Given the description of an element on the screen output the (x, y) to click on. 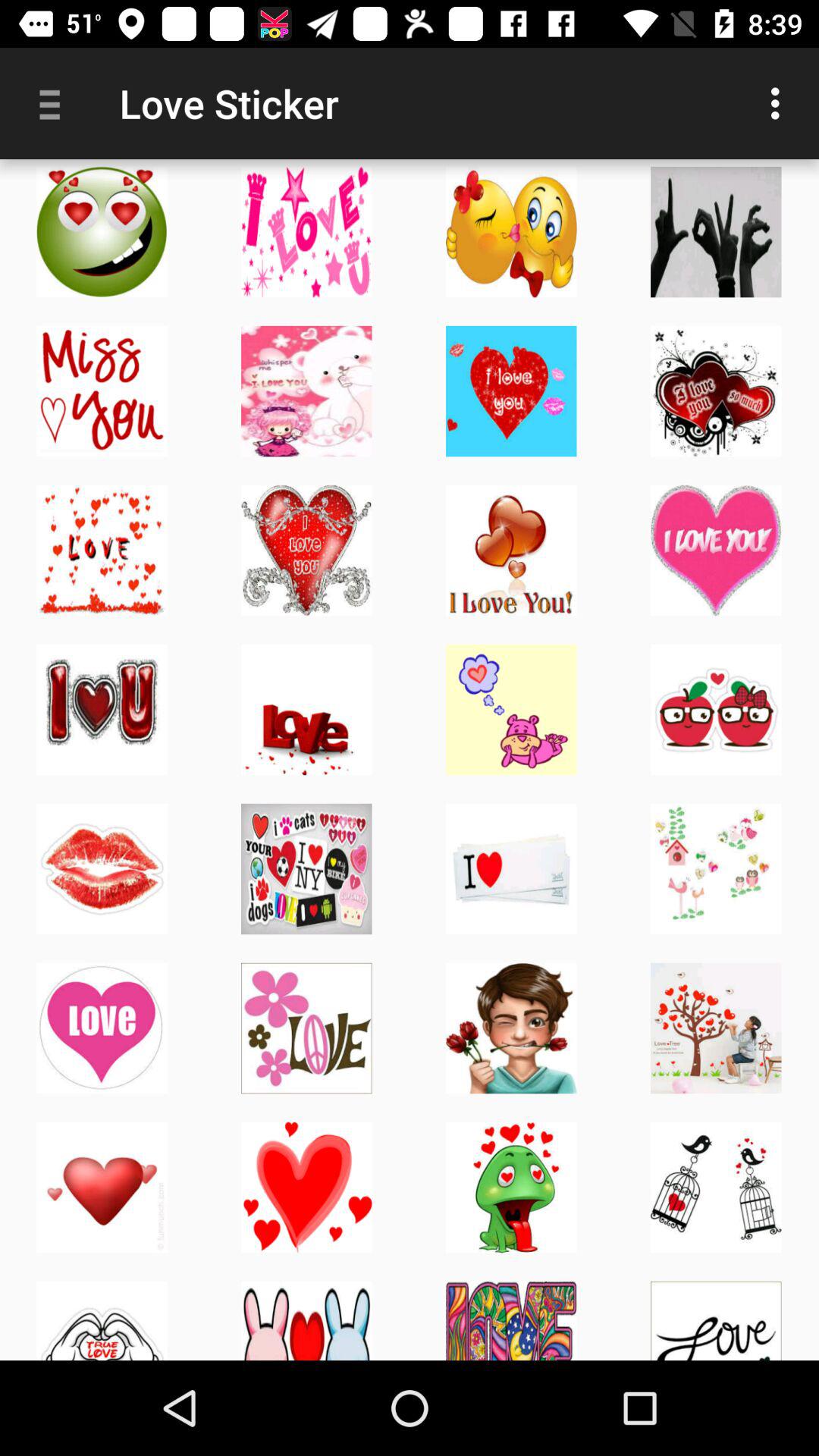
turn off app next to the love sticker item (55, 103)
